Given the description of an element on the screen output the (x, y) to click on. 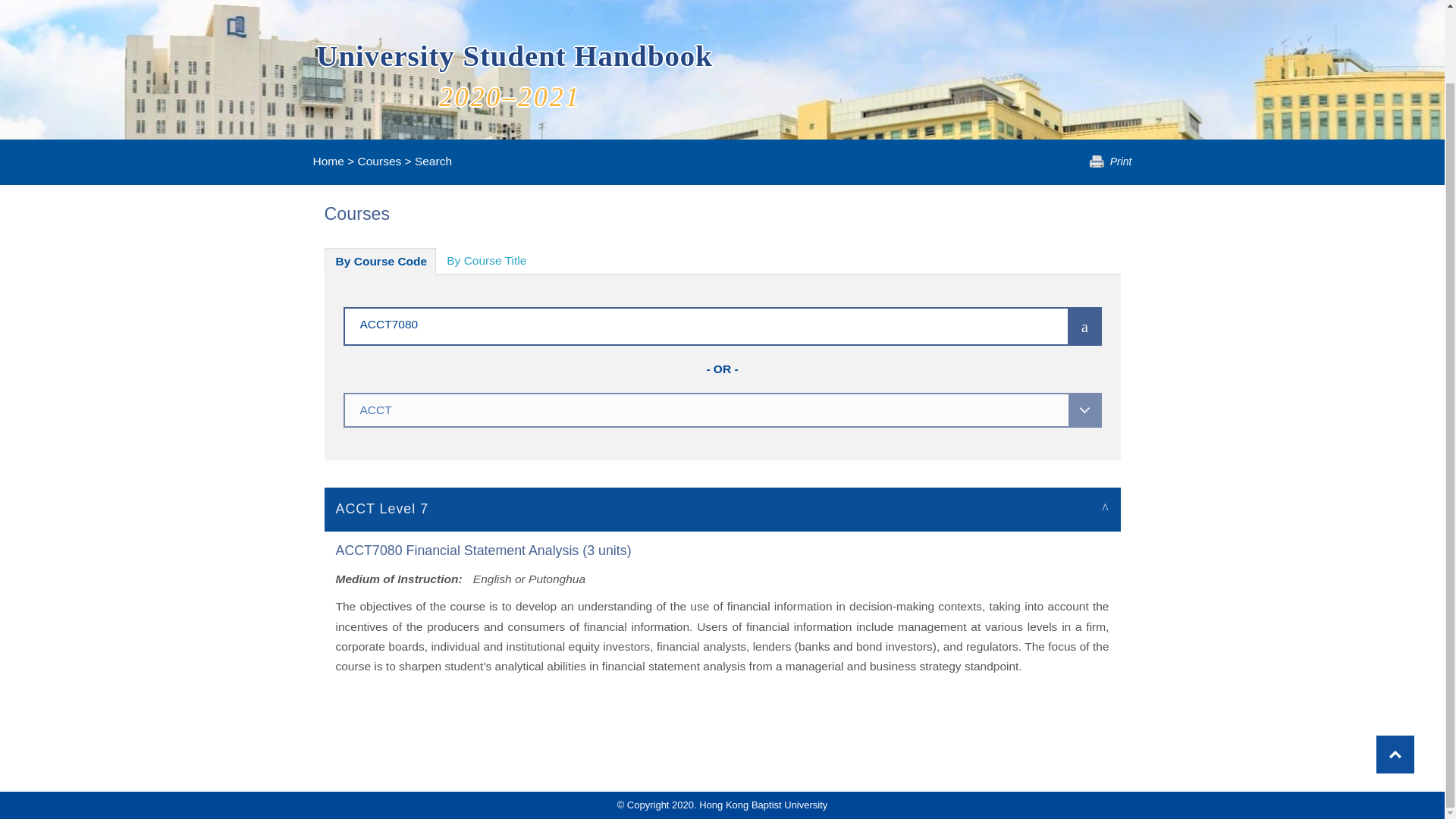
By Course Code (381, 261)
Home (328, 160)
Print (1110, 161)
By Course Title (486, 260)
ACCT Level 7 (722, 508)
Courses (379, 160)
ACCT7080 (683, 322)
Scroll To Top (1394, 672)
Scroll To Top (1394, 672)
ACCT7080 (683, 322)
Scroll To Top (1394, 672)
